Given the description of an element on the screen output the (x, y) to click on. 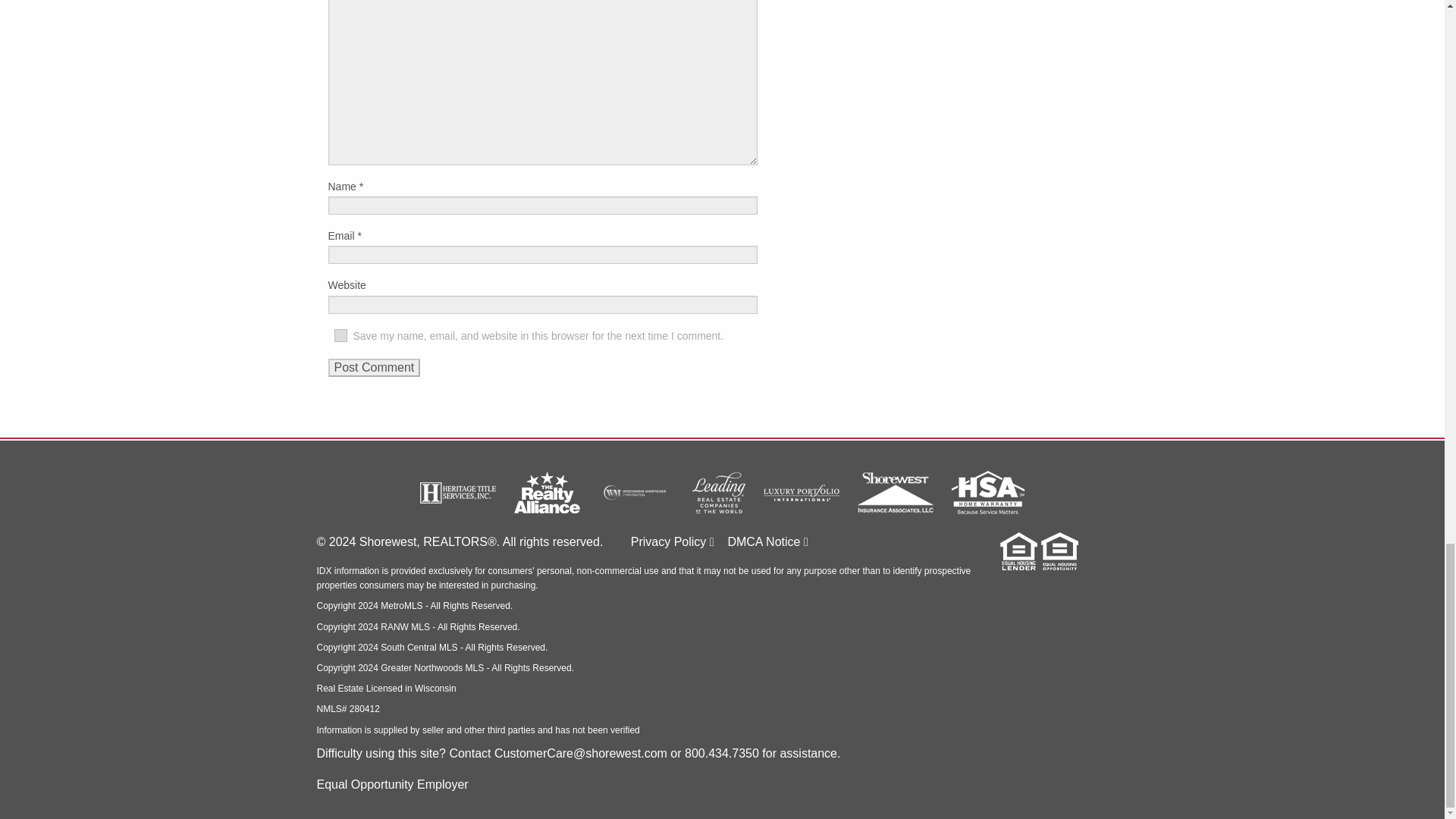
Post Comment (373, 367)
Post Comment (373, 367)
